Given the description of an element on the screen output the (x, y) to click on. 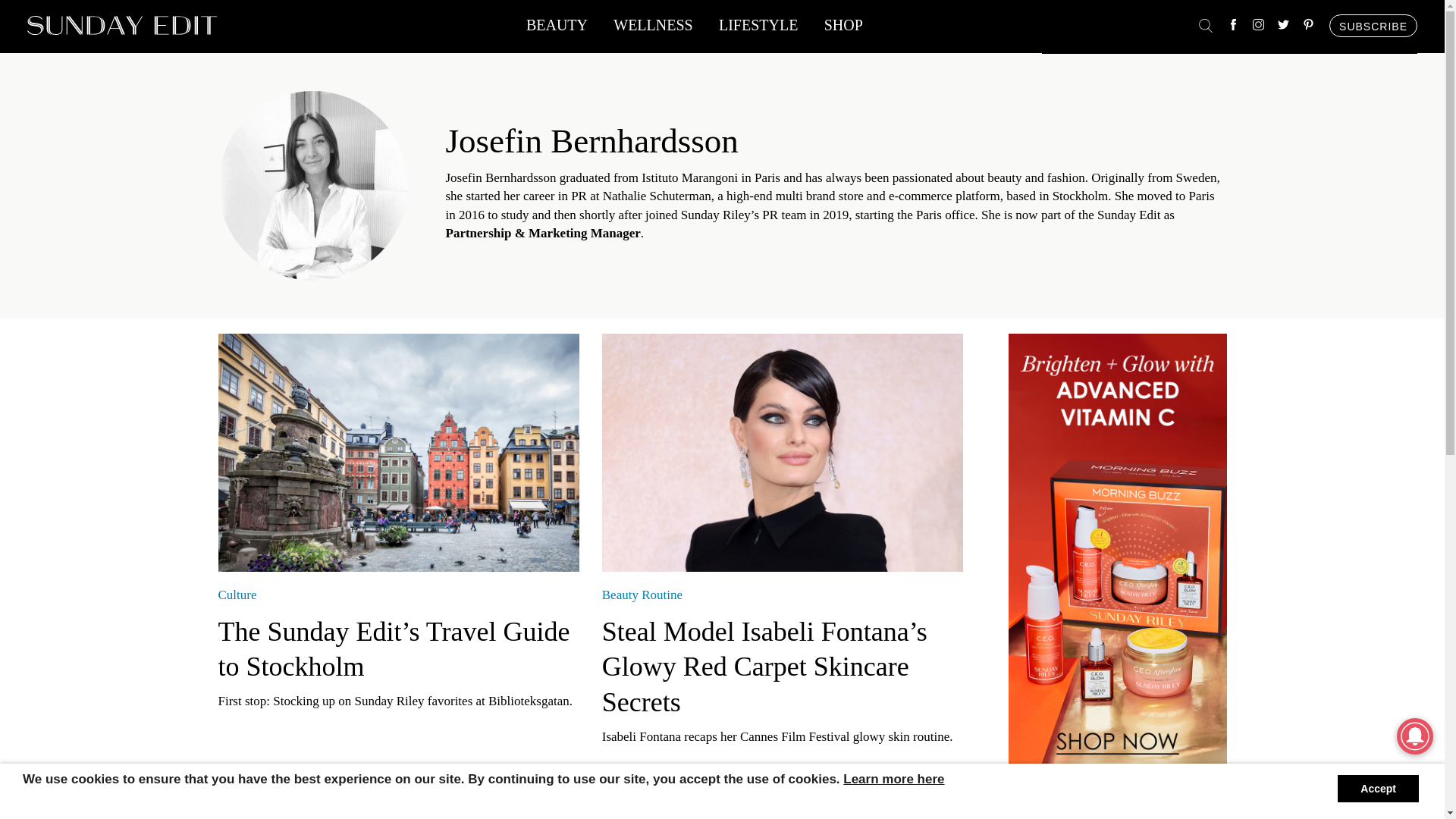
Beauty Routine (642, 594)
LIFESTYLE (758, 28)
WELLNESS (652, 28)
BEAUTY (556, 28)
SUBSCRIBE (1372, 25)
Culture (237, 594)
